Given the description of an element on the screen output the (x, y) to click on. 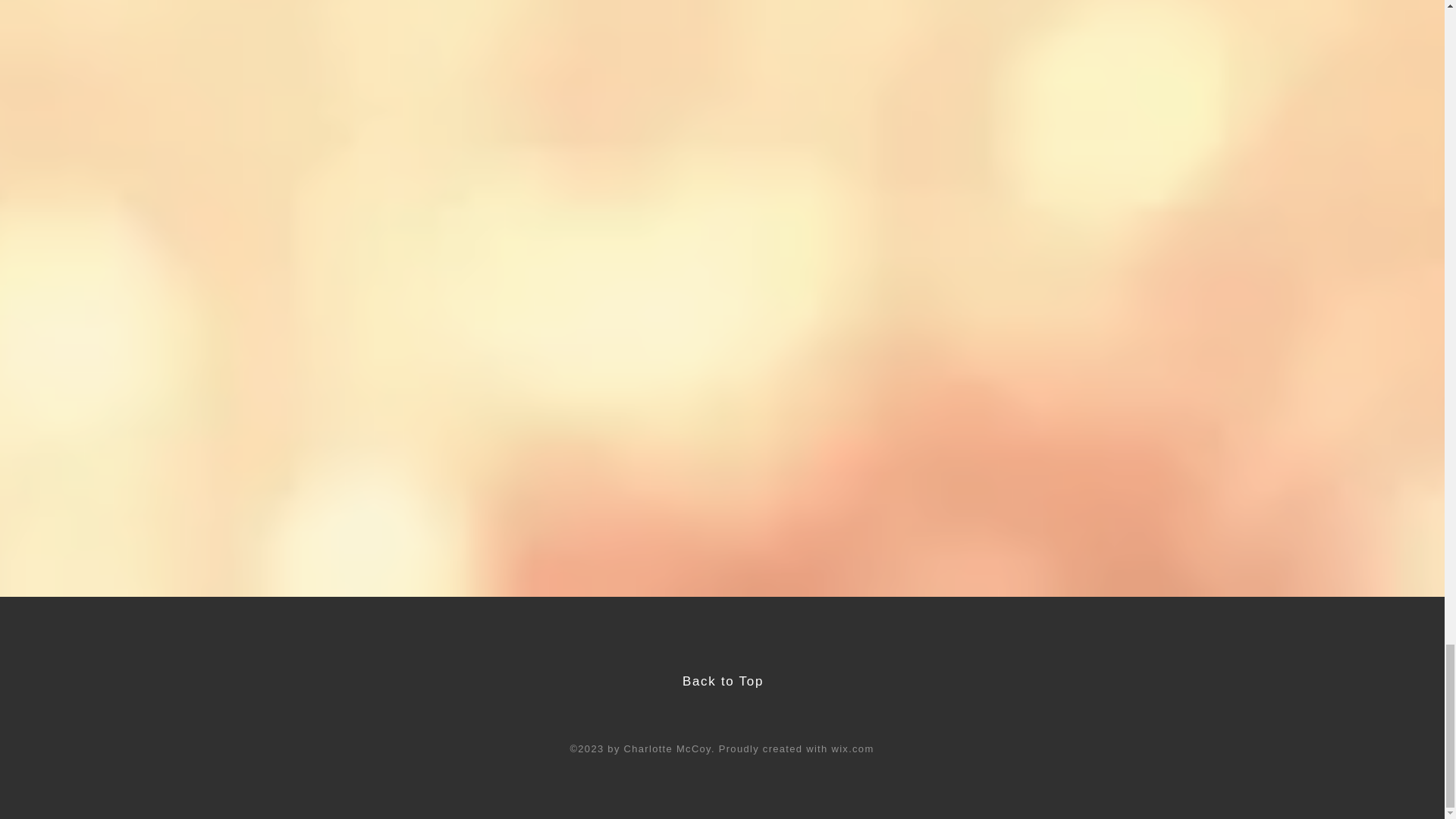
wix.com (852, 748)
Back to Top (722, 681)
